Given the description of an element on the screen output the (x, y) to click on. 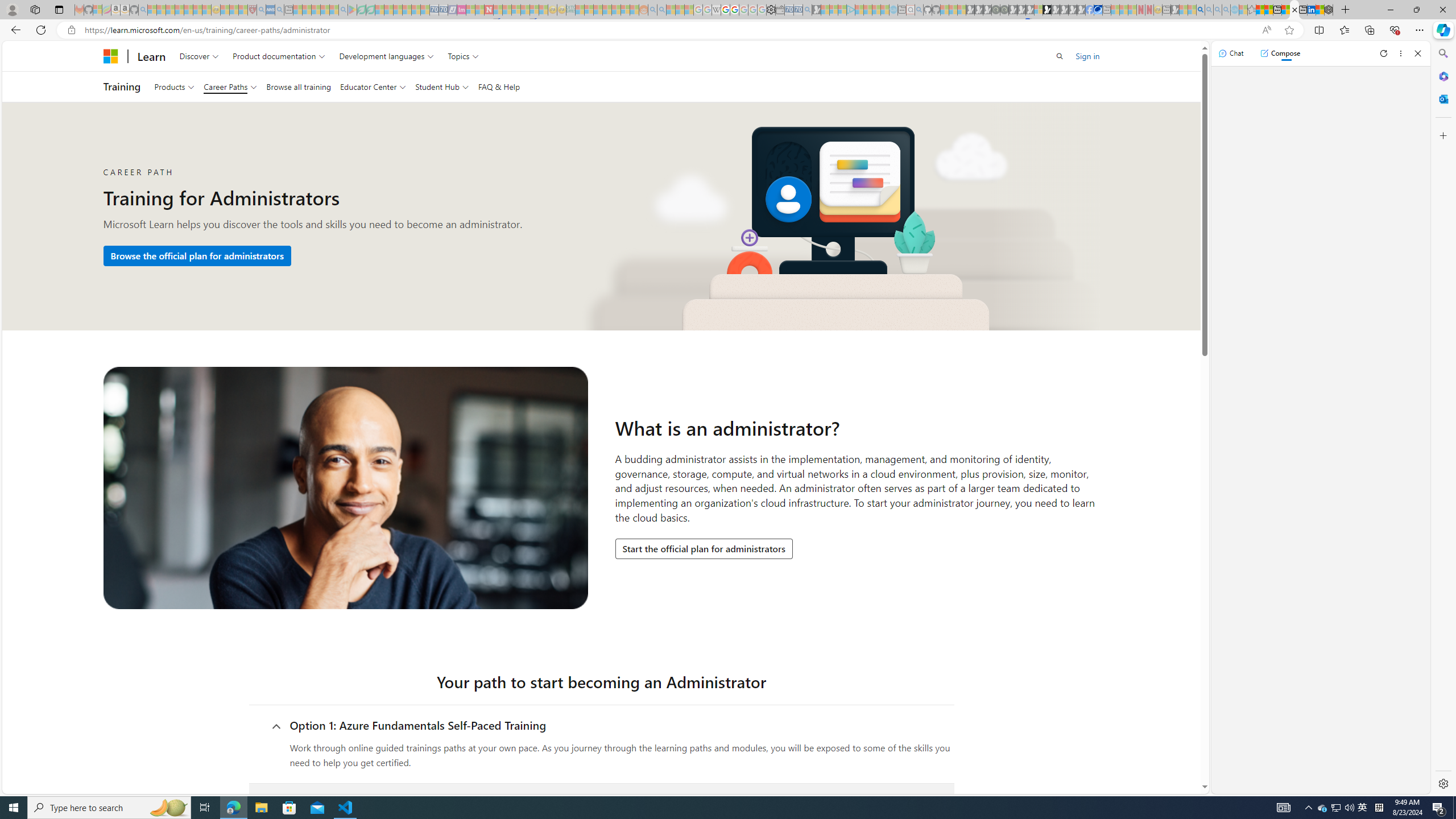
Browse all training (298, 86)
Trusted Community Engagement and Contributions | Guidelines (497, 9)
Microsoft account | Privacy - Sleeping (841, 9)
Chat (1230, 52)
Nordace - Summer Adventures 2024 (1328, 9)
Latest Politics News & Archive | Newsweek.com - Sleeping (488, 9)
